Given the description of an element on the screen output the (x, y) to click on. 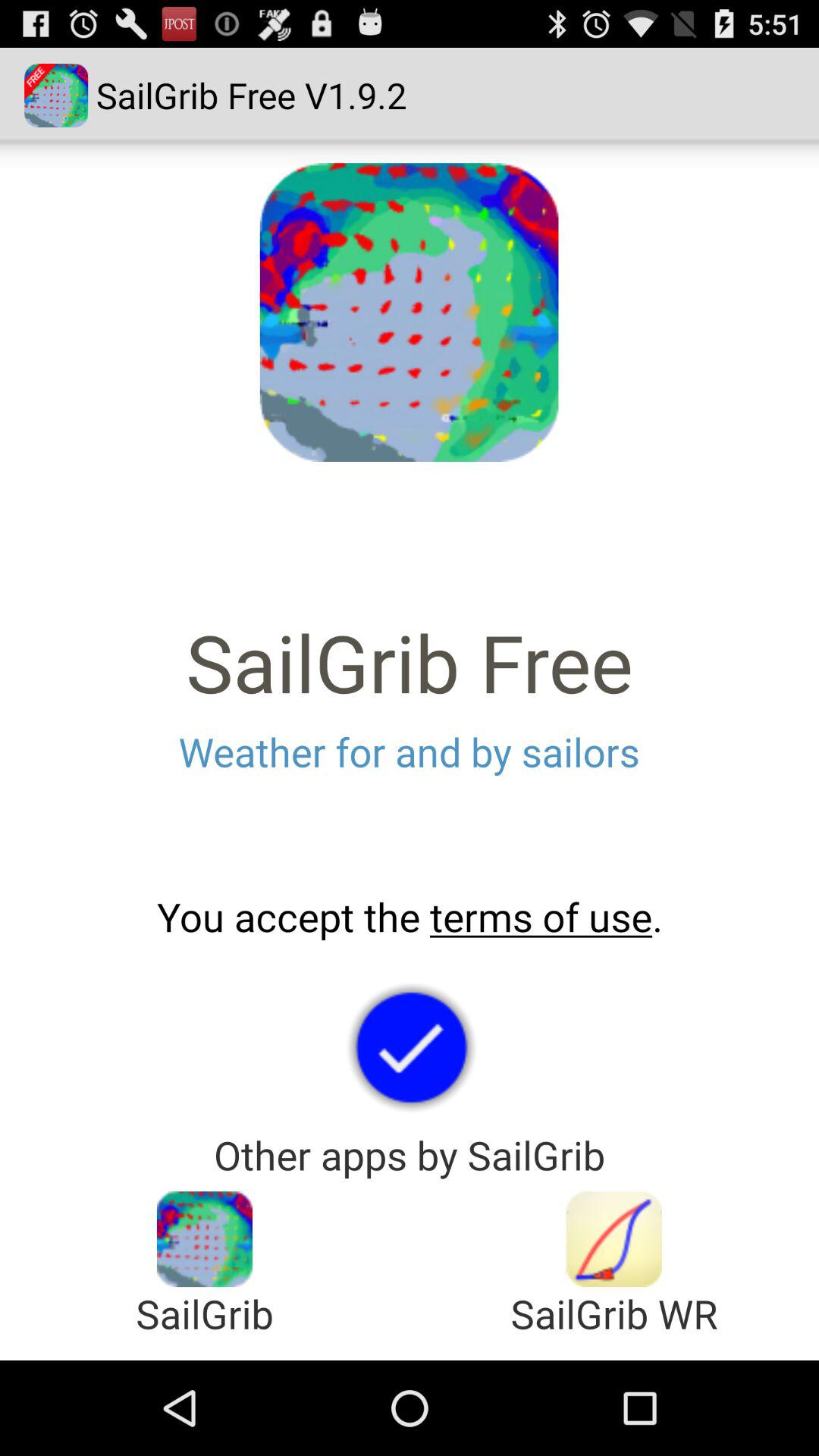
accept terms of use option (409, 1046)
